Given the description of an element on the screen output the (x, y) to click on. 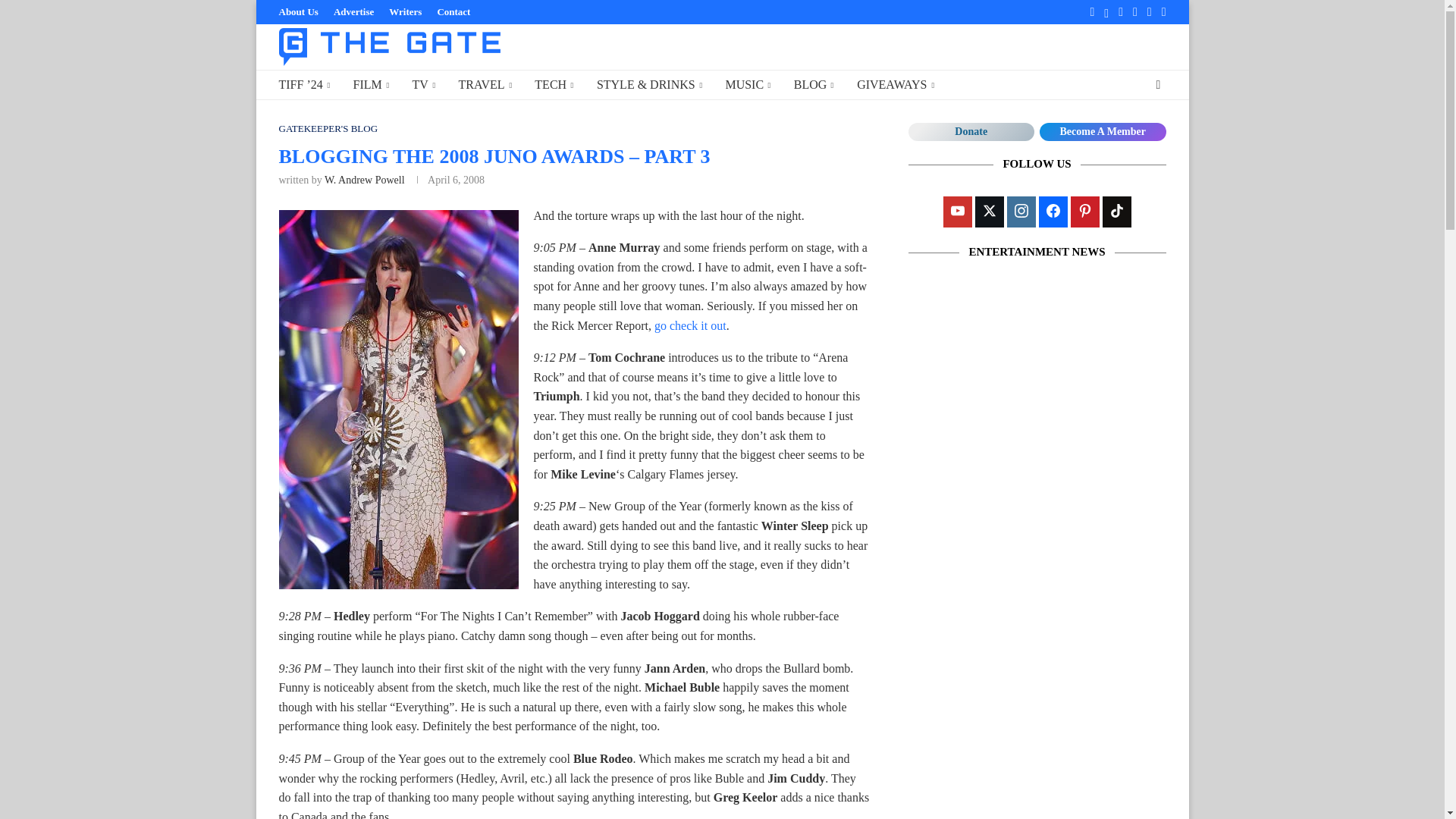
GATEKEEPER'S BLOG (328, 128)
TRAVEL (485, 84)
GIVEAWAYS (895, 84)
MUSIC (747, 84)
BLOG (813, 84)
FILM (370, 84)
Contact (453, 12)
Writers (405, 12)
go check it out (689, 325)
TECH (553, 84)
